Given the description of an element on the screen output the (x, y) to click on. 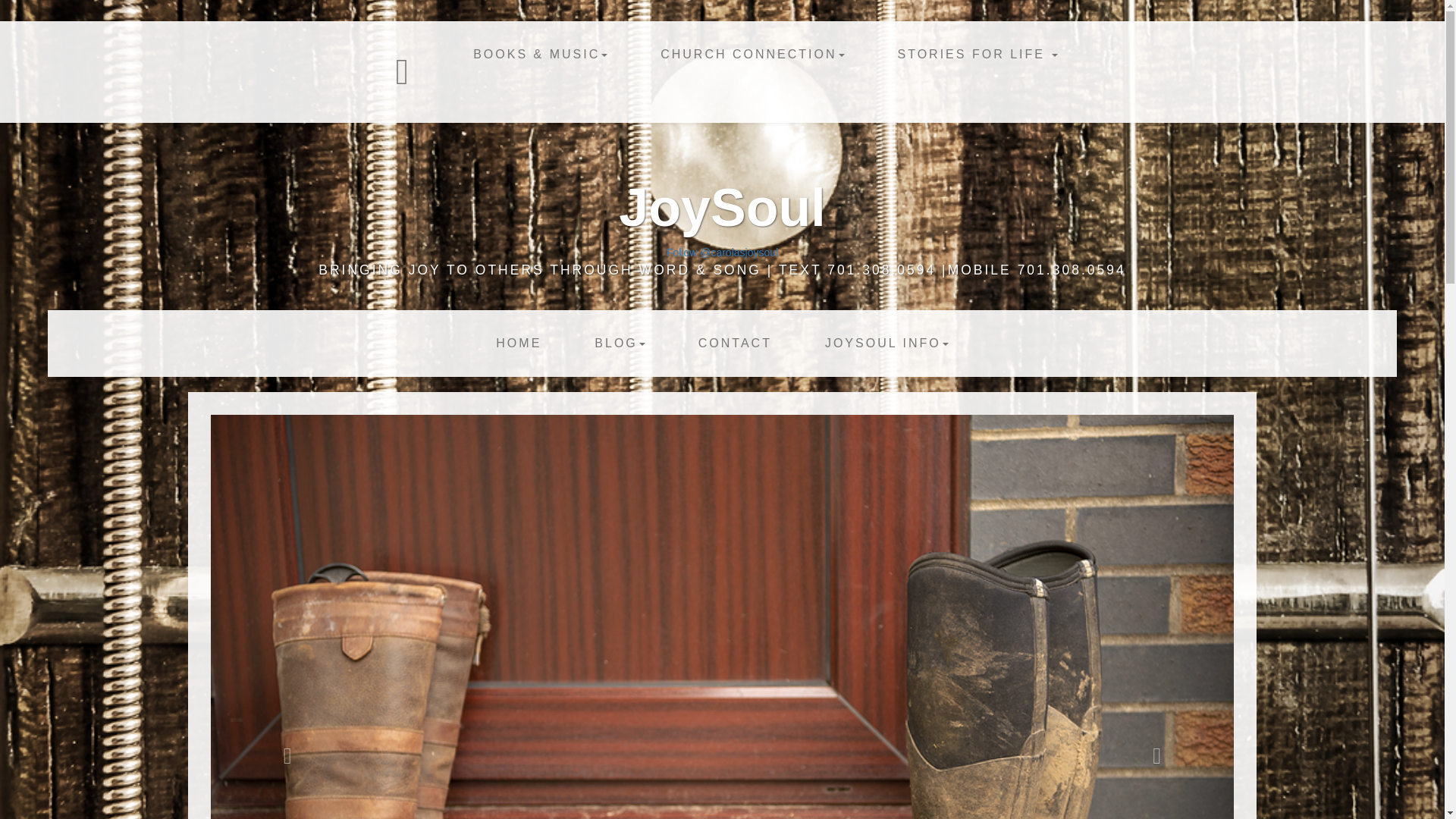
STORIES FOR LIFE (977, 54)
CHURCH CONNECTION (751, 54)
